Given the description of an element on the screen output the (x, y) to click on. 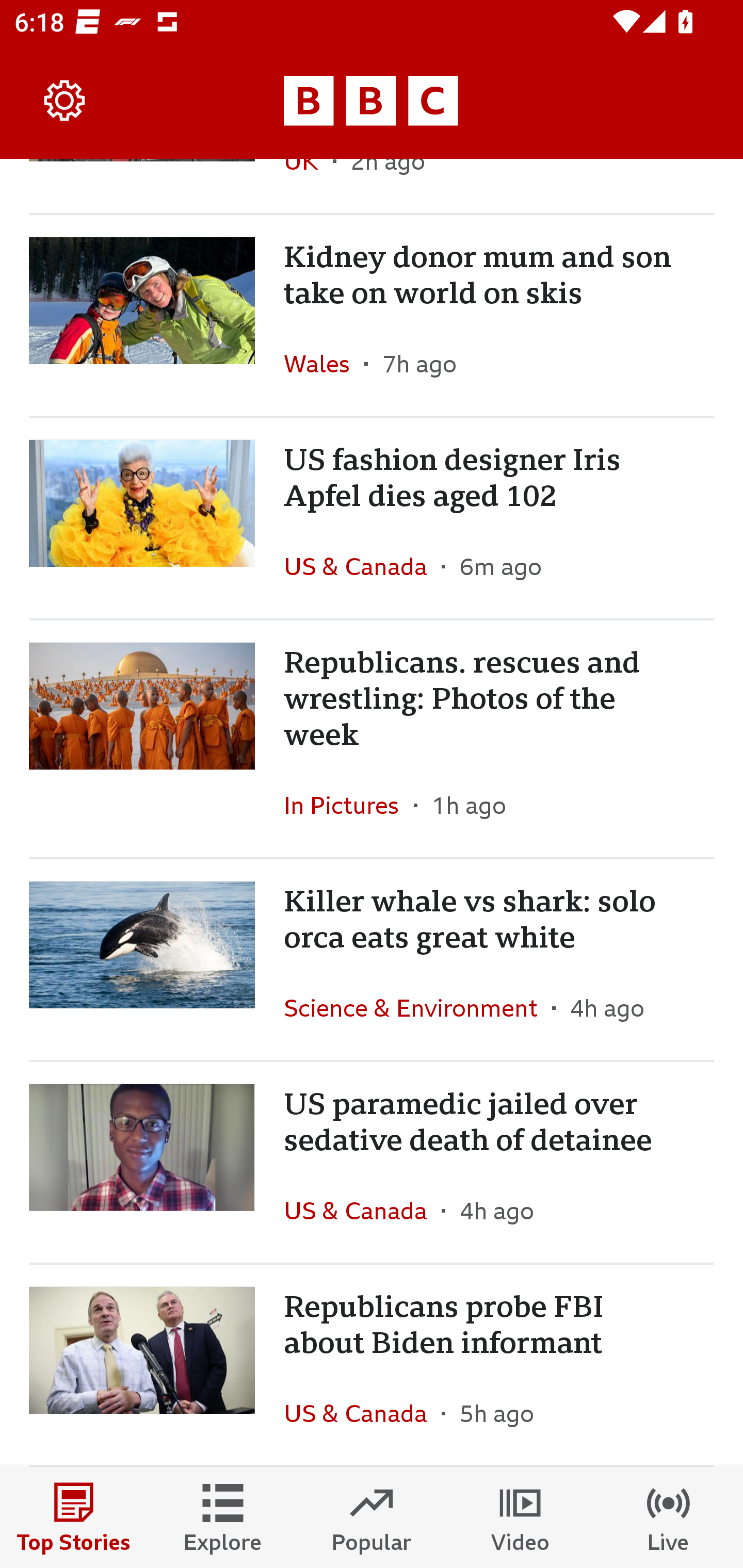
Settings (64, 100)
Wales In the section Wales (323, 363)
US & Canada In the section US & Canada (362, 565)
In Pictures In the section In Pictures (348, 804)
US & Canada In the section US & Canada (362, 1210)
US & Canada In the section US & Canada (362, 1413)
Explore (222, 1517)
Popular (371, 1517)
Video (519, 1517)
Live (668, 1517)
